Given the description of an element on the screen output the (x, y) to click on. 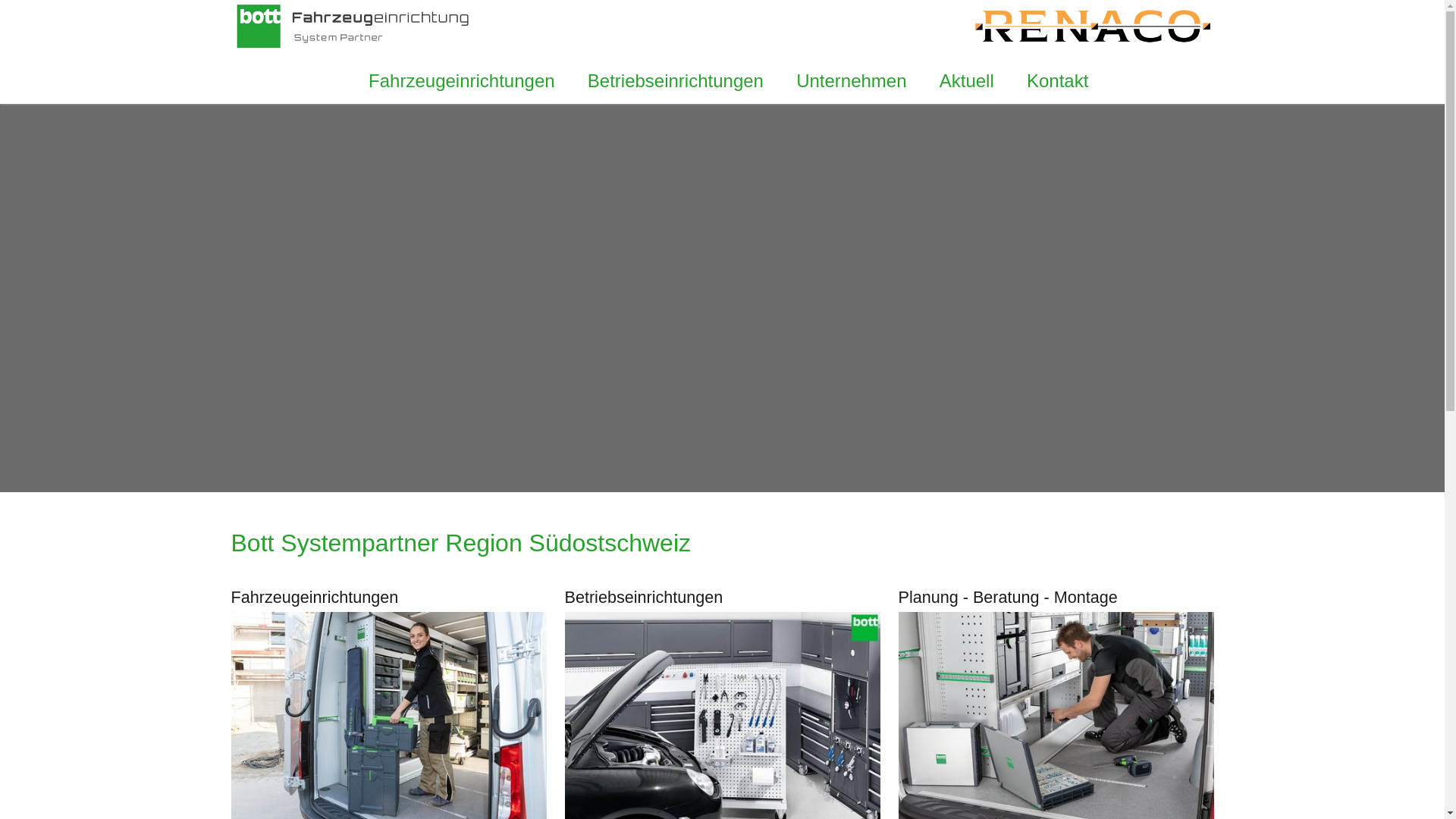
Aktuell Element type: text (966, 80)
Betriebseinrichtungen Element type: text (675, 80)
Kontakt Element type: text (1057, 80)
Unternehmen Element type: text (851, 80)
Renaco Mels Element type: hover (351, 26)
Fahrzeugeinrichtungen Element type: text (461, 80)
Renaco Mels Element type: hover (1091, 26)
